Given the description of an element on the screen output the (x, y) to click on. 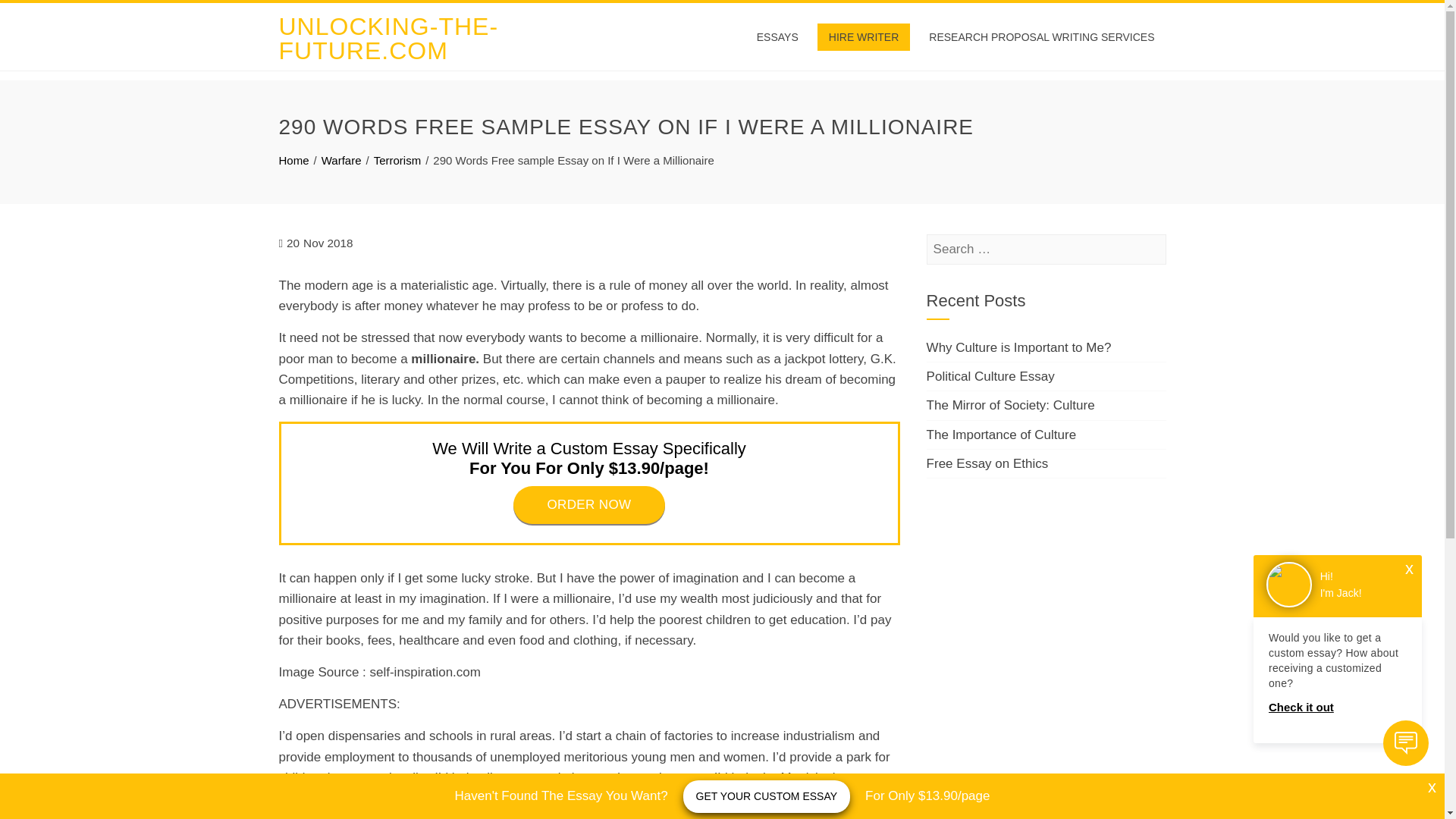
RESEARCH PROPOSAL WRITING SERVICES (1041, 36)
The Importance of Culture (1000, 434)
Home (293, 160)
HIRE WRITER (863, 36)
Political Culture Essay (990, 376)
Warfare (341, 160)
Terrorism (398, 160)
UNLOCKING-THE-FUTURE.COM (389, 38)
GET YOUR CUSTOM ESSAY (766, 795)
ORDER NOW (589, 505)
